Given the description of an element on the screen output the (x, y) to click on. 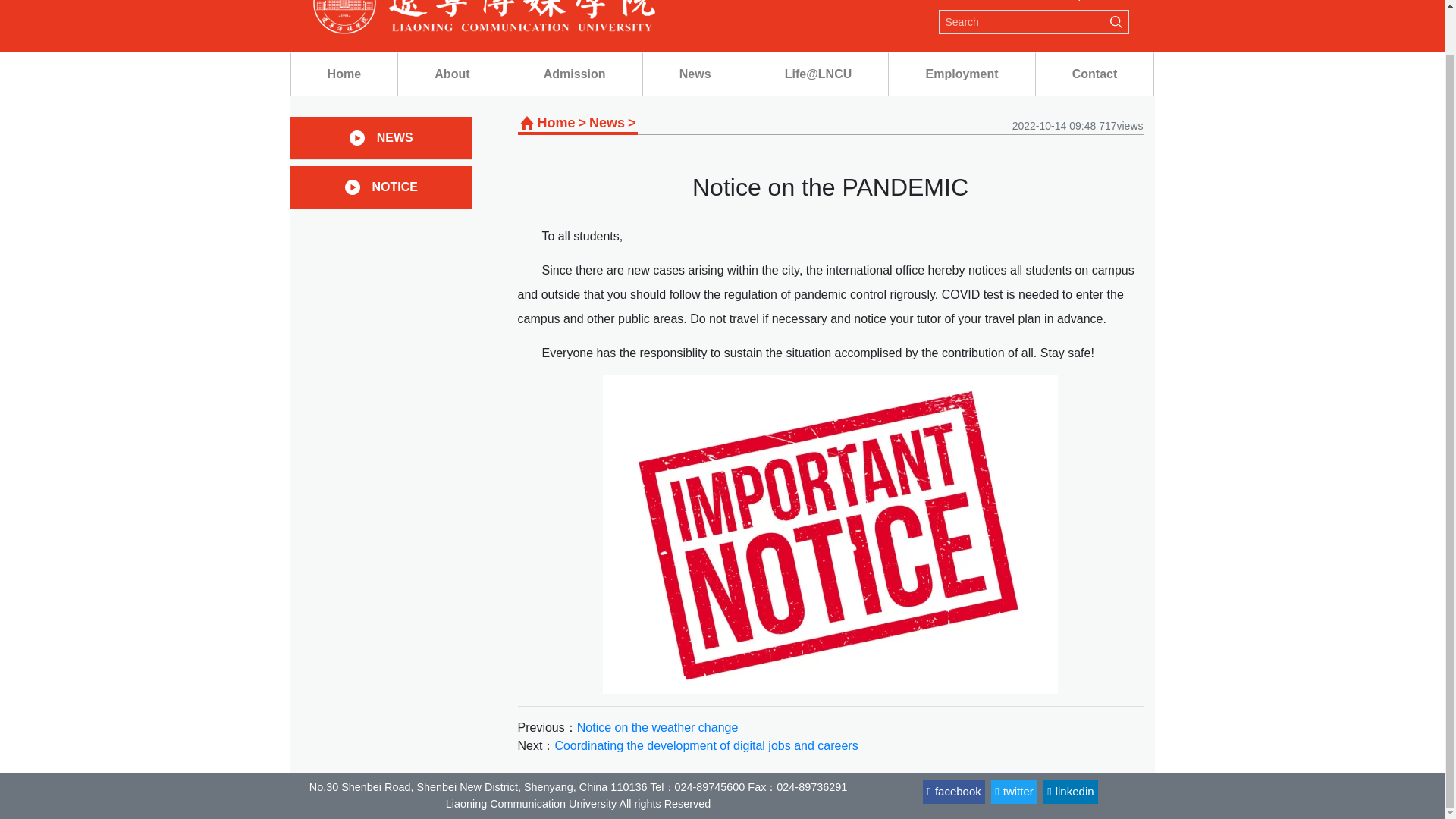
facebook (953, 791)
NOTICE (393, 187)
Admission (574, 73)
About (451, 73)
Notice on the weather change (657, 727)
Contact (1094, 73)
Home (343, 73)
linkedin (1070, 791)
Chinese (1106, 0)
NEWS (395, 137)
Coordinating the development of digital jobs and careers (705, 745)
twitter (1013, 791)
News (695, 73)
Home (555, 123)
